Given the description of an element on the screen output the (x, y) to click on. 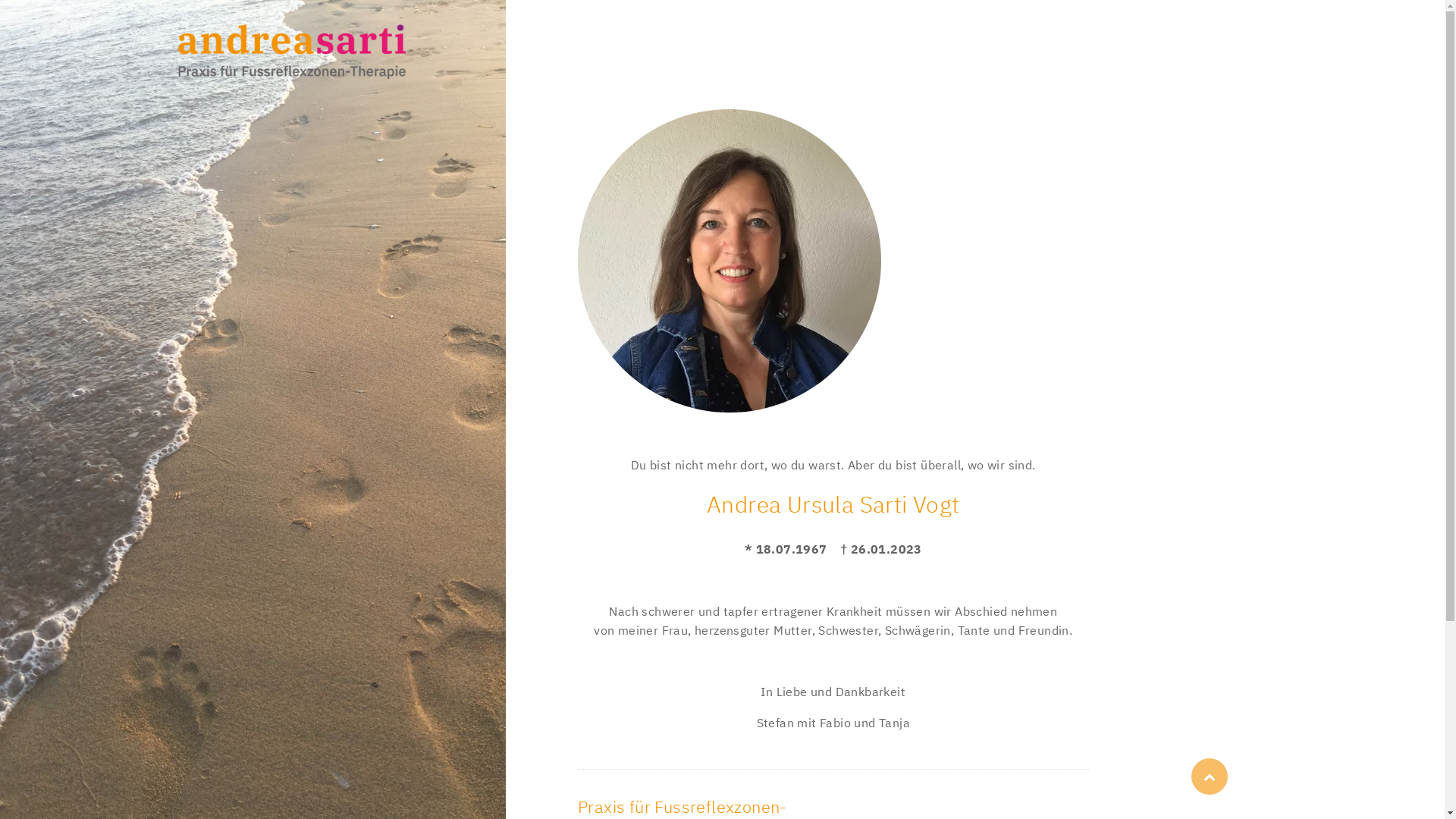
Andrea Sarti Element type: hover (729, 260)
